Given the description of an element on the screen output the (x, y) to click on. 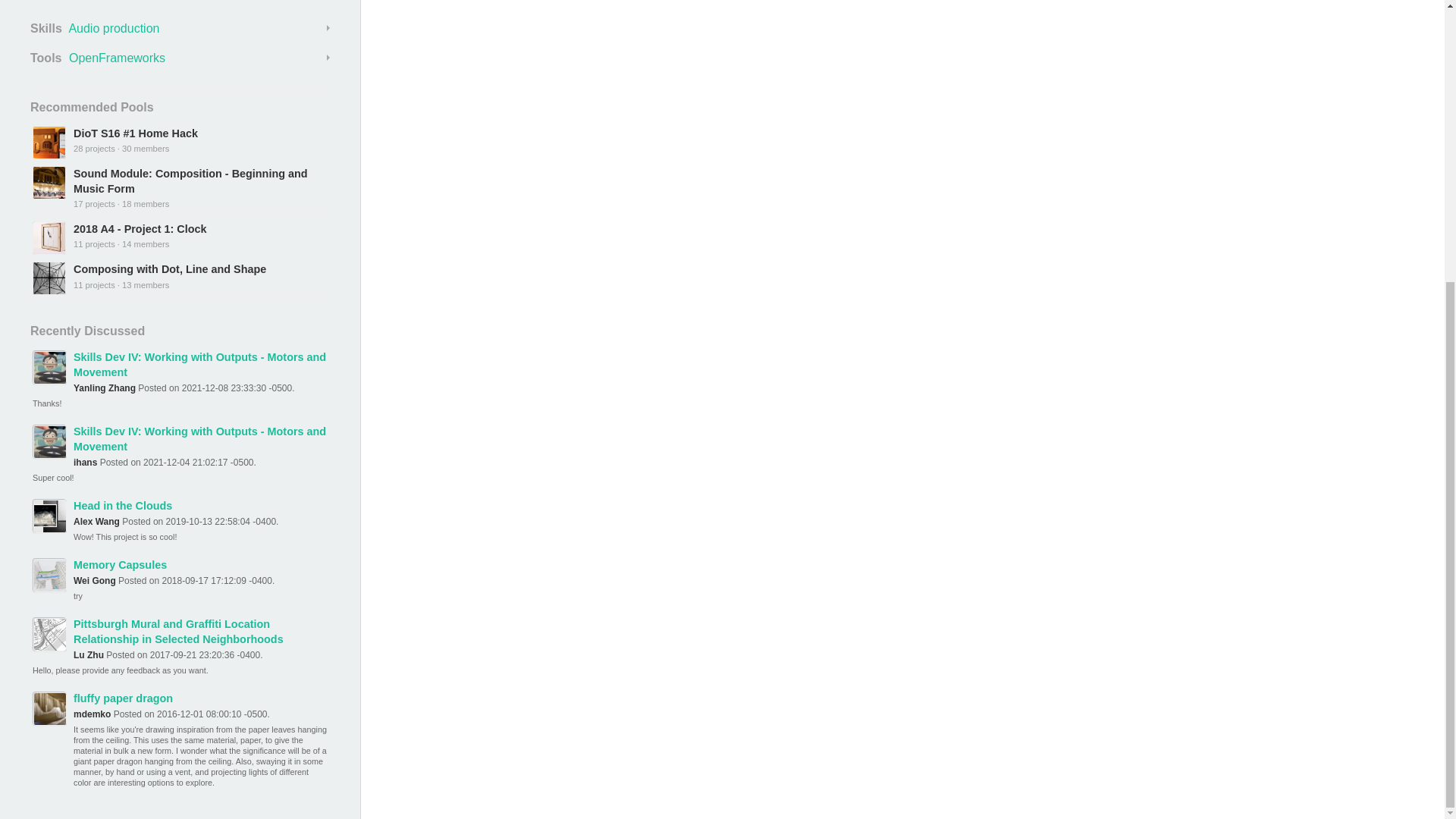
Skills Audio production (180, 28)
